Given the description of an element on the screen output the (x, y) to click on. 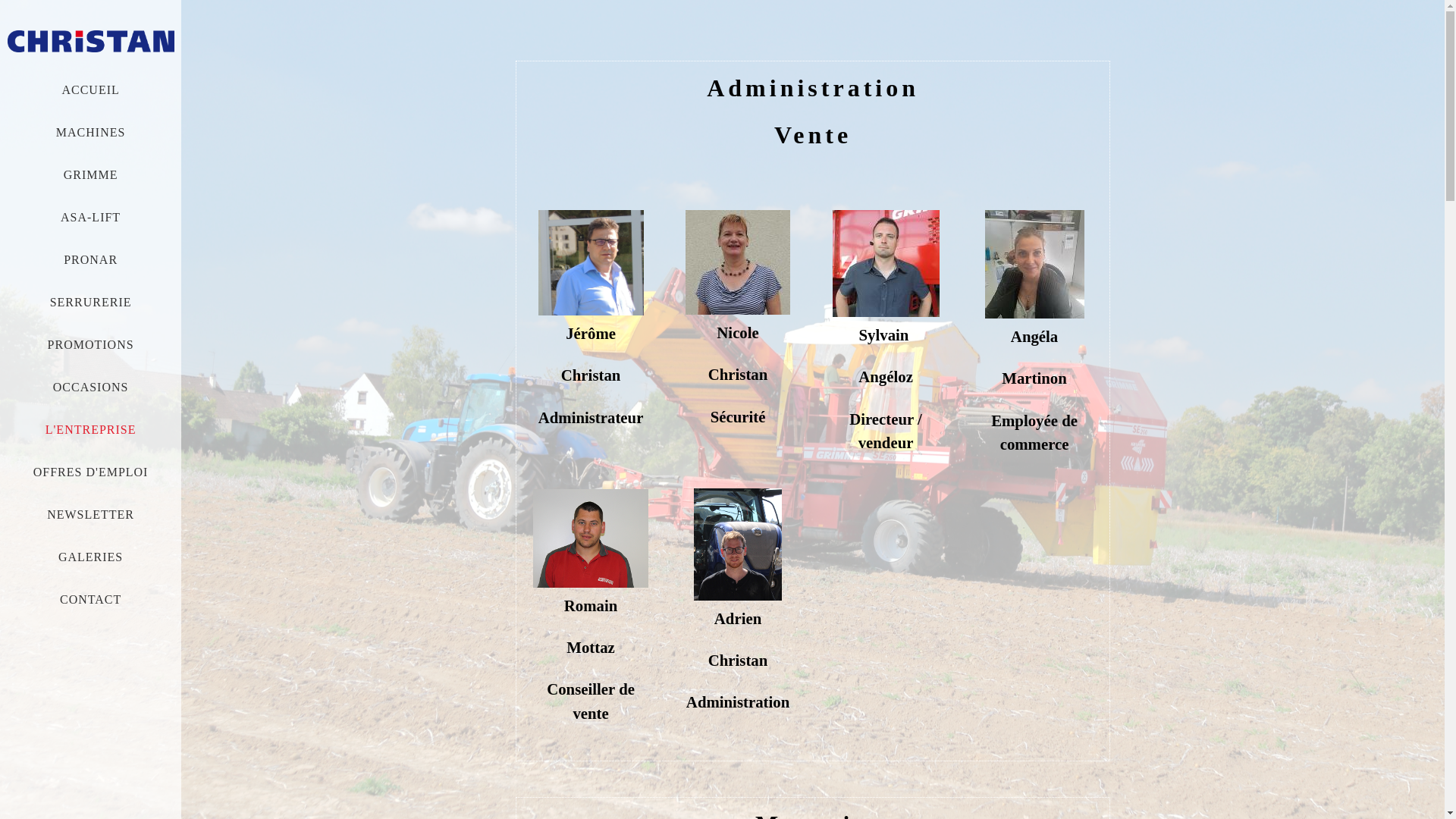
OCCASIONS Element type: text (90, 386)
ACCUEIL Element type: text (90, 89)
NEWSLETTER Element type: text (90, 514)
GRIMME Element type: text (90, 174)
MACHINES Element type: text (90, 131)
PROMOTIONS Element type: text (90, 344)
GALERIES Element type: text (90, 556)
OFFRES D'EMPLOI Element type: text (90, 471)
L'ENTREPRISE Element type: text (90, 429)
ASA-LIFT Element type: text (90, 216)
PRONAR Element type: text (90, 259)
CONTACT Element type: text (90, 599)
SERRURERIE Element type: text (90, 301)
